Given the description of an element on the screen output the (x, y) to click on. 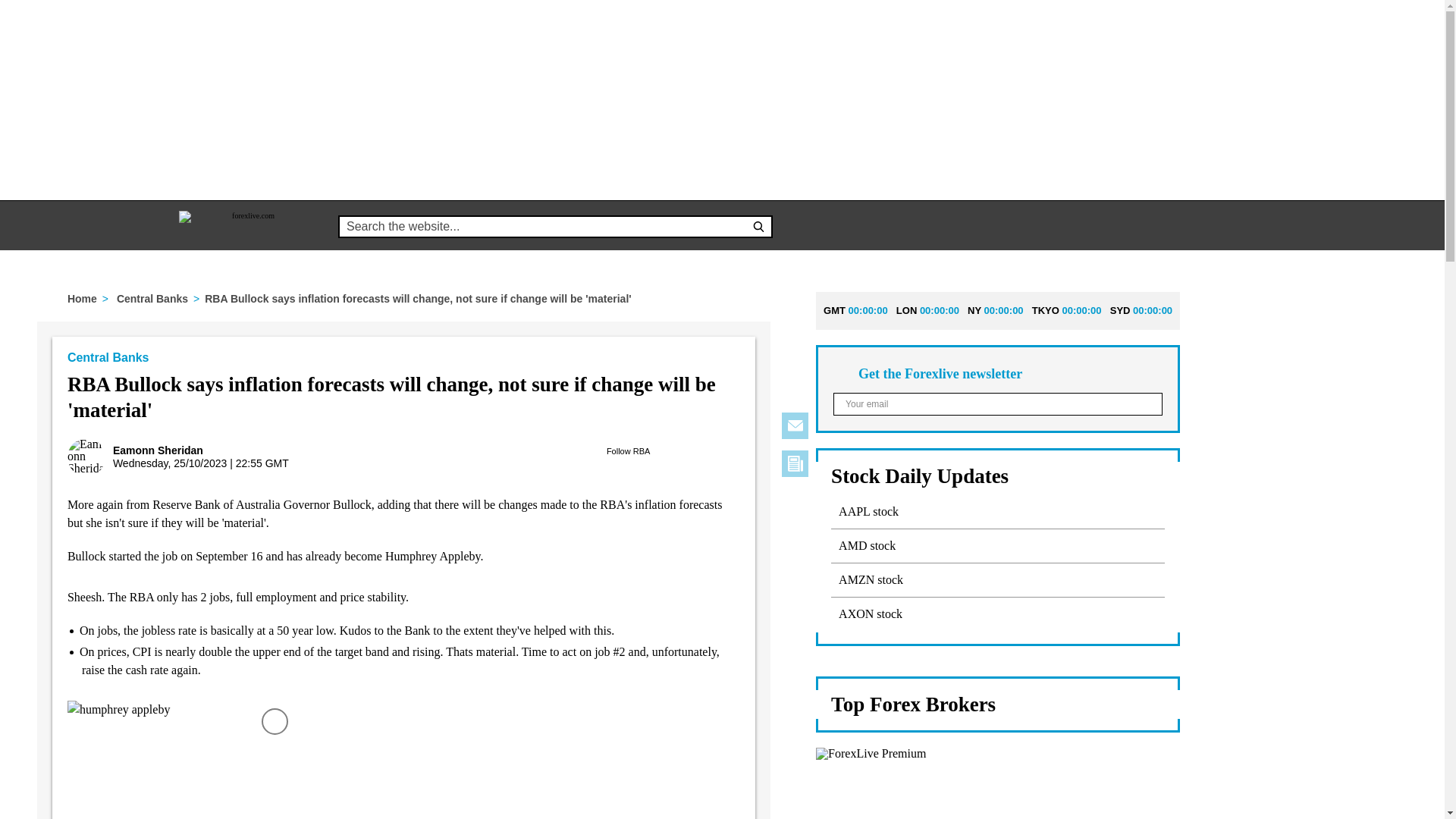
Follow RBA (628, 451)
